Given the description of an element on the screen output the (x, y) to click on. 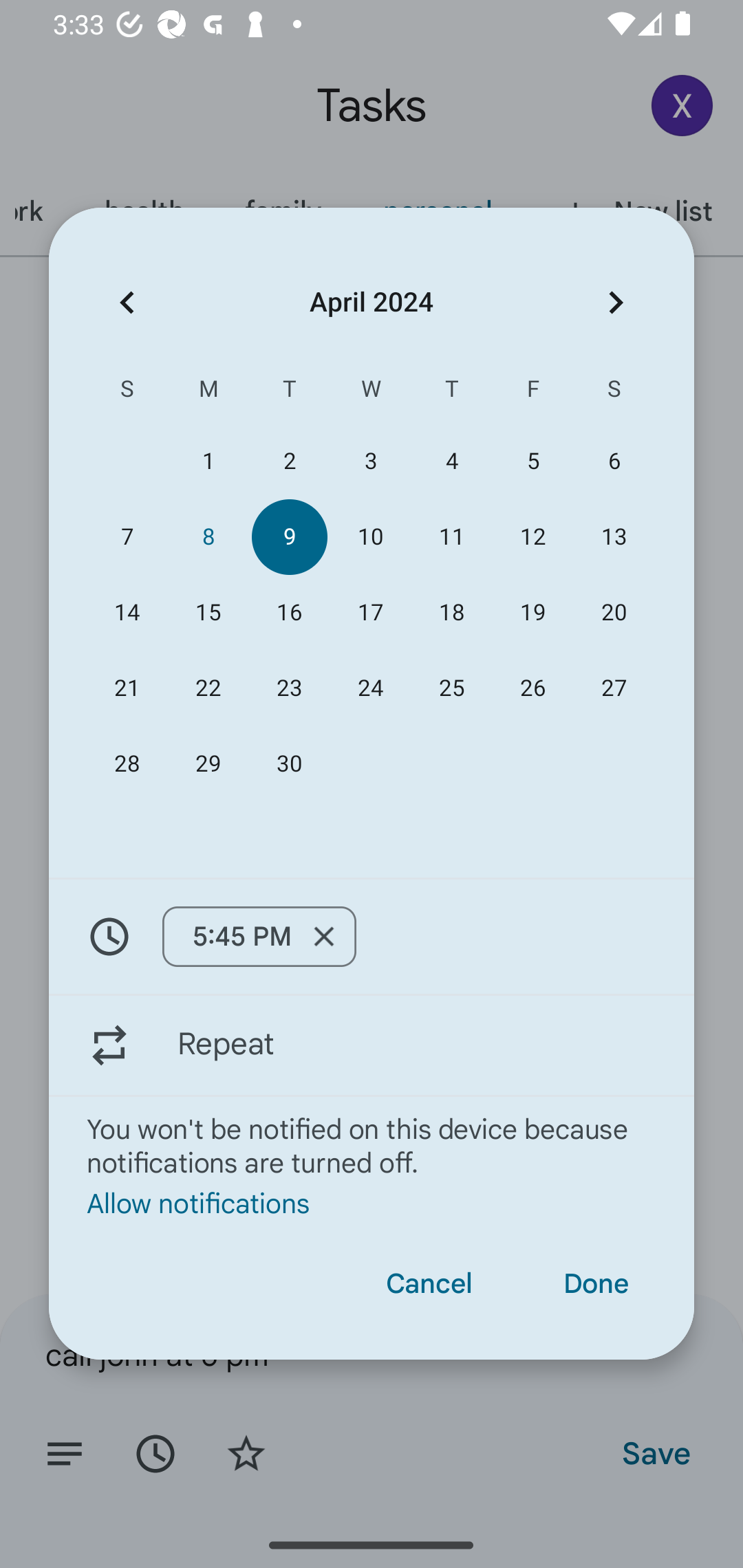
Previous month (126, 302)
Next month (615, 302)
1 01 April 2024 (207, 460)
2 02 April 2024 (288, 460)
3 03 April 2024 (370, 460)
4 04 April 2024 (451, 460)
5 05 April 2024 (532, 460)
6 06 April 2024 (613, 460)
7 07 April 2024 (126, 536)
8 08 April 2024 (207, 536)
9 09 April 2024 (288, 536)
10 10 April 2024 (370, 536)
11 11 April 2024 (451, 536)
12 12 April 2024 (532, 536)
13 13 April 2024 (613, 536)
14 14 April 2024 (126, 612)
15 15 April 2024 (207, 612)
16 16 April 2024 (288, 612)
17 17 April 2024 (370, 612)
18 18 April 2024 (451, 612)
19 19 April 2024 (532, 612)
20 20 April 2024 (613, 612)
21 21 April 2024 (126, 687)
22 22 April 2024 (207, 687)
23 23 April 2024 (288, 687)
24 24 April 2024 (370, 687)
25 25 April 2024 (451, 687)
26 26 April 2024 (532, 687)
27 27 April 2024 (613, 687)
28 28 April 2024 (126, 763)
29 29 April 2024 (207, 763)
30 30 April 2024 (288, 763)
5:45 PM Remove 5:45 PM (371, 936)
5:45 PM Remove 5:45 PM (259, 935)
Repeat (371, 1044)
Allow notifications (371, 1202)
Cancel (429, 1283)
Done (595, 1283)
